Given the description of an element on the screen output the (x, y) to click on. 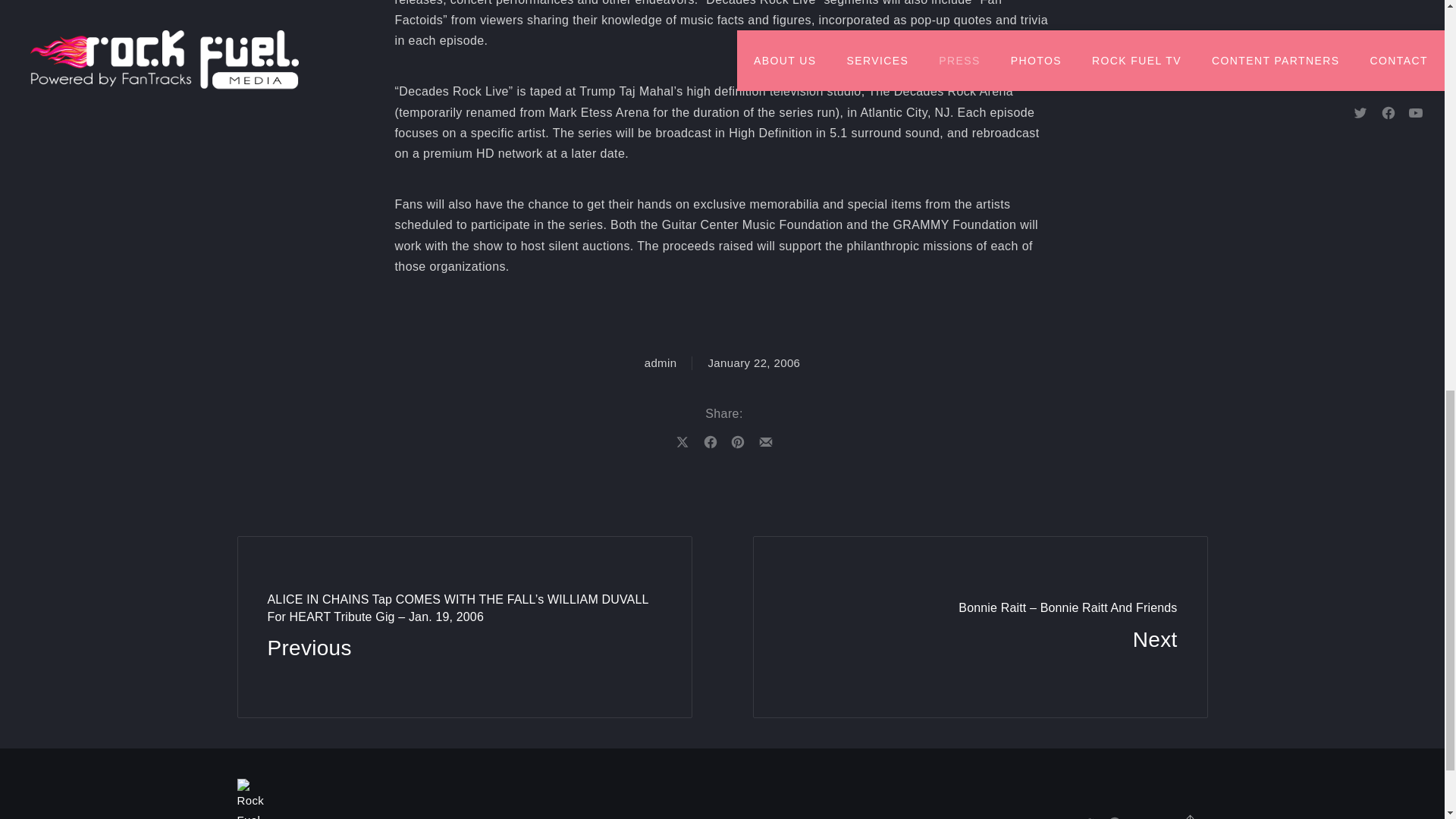
Rock Fuel Media Inc (440, 818)
January 22, 2006 (753, 363)
Facebook (1114, 812)
Twitter (1087, 812)
News (877, 812)
About Us (952, 812)
High Definition Programming (440, 818)
admin (661, 363)
YouTube (1141, 812)
